Given the description of an element on the screen output the (x, y) to click on. 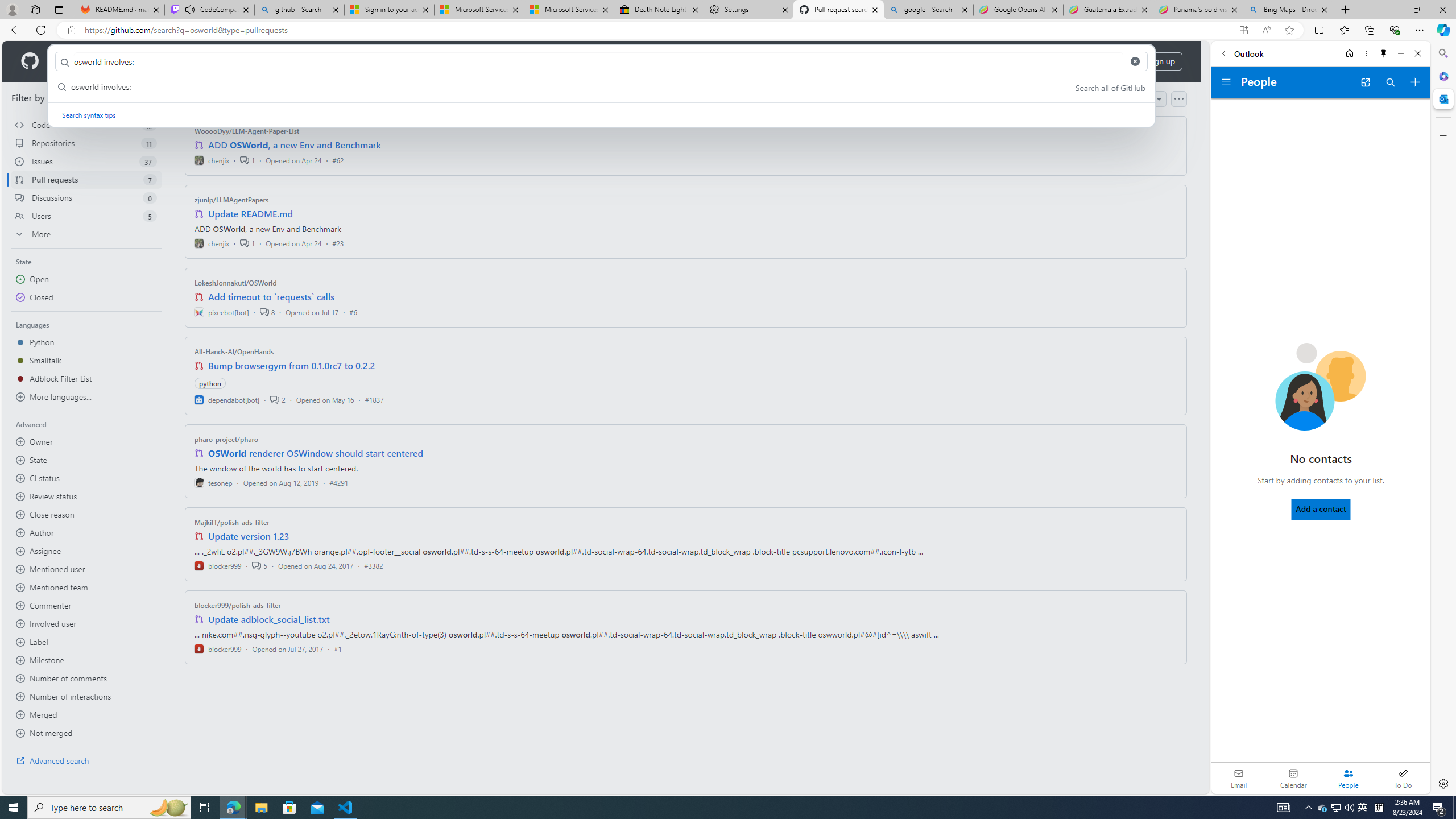
2 (277, 398)
To Do (1402, 777)
Resources (187, 60)
github - Search (298, 9)
5 (259, 565)
Open column options (1178, 98)
Enterprise (319, 60)
Sort by: Best match (1126, 98)
